Given the description of an element on the screen output the (x, y) to click on. 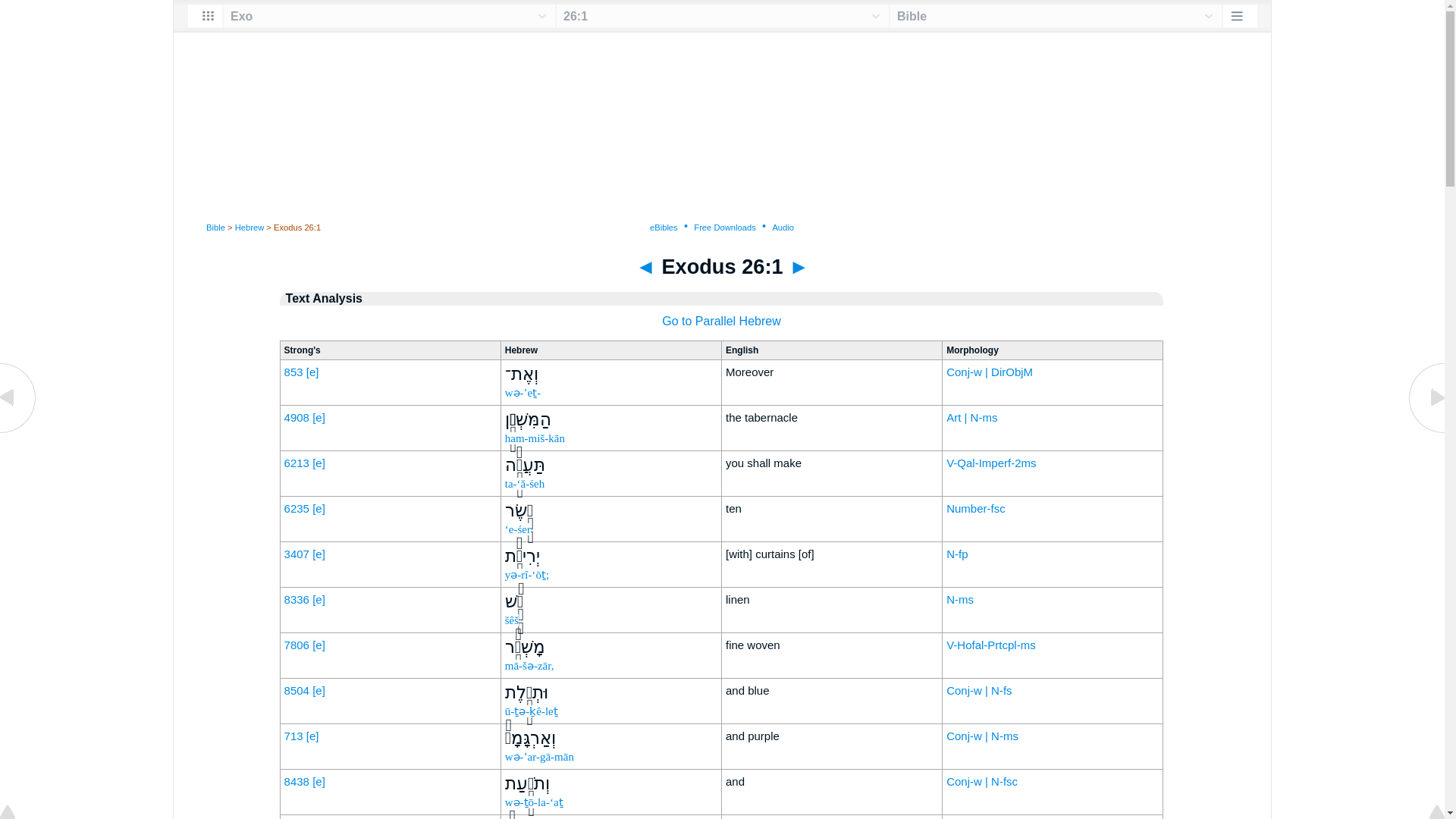
713 (292, 735)
8336 (295, 599)
Number-fsc (976, 508)
853 (292, 371)
8504 (295, 689)
3407 (295, 553)
Number - feminine singular construct (976, 508)
Englishman's Hebrew: 4908 -- Occurrence 2 of 139 (318, 417)
4908 (295, 417)
V-Hofal-Prtcpl-ms (990, 644)
7806 (295, 644)
6213 (295, 462)
Conjunctive waw :: Direct object marker (989, 371)
Englishman's Hebrew: 853 -- Occurrence 1505 of 11050 (311, 371)
Hebrew (249, 226)
